Given the description of an element on the screen output the (x, y) to click on. 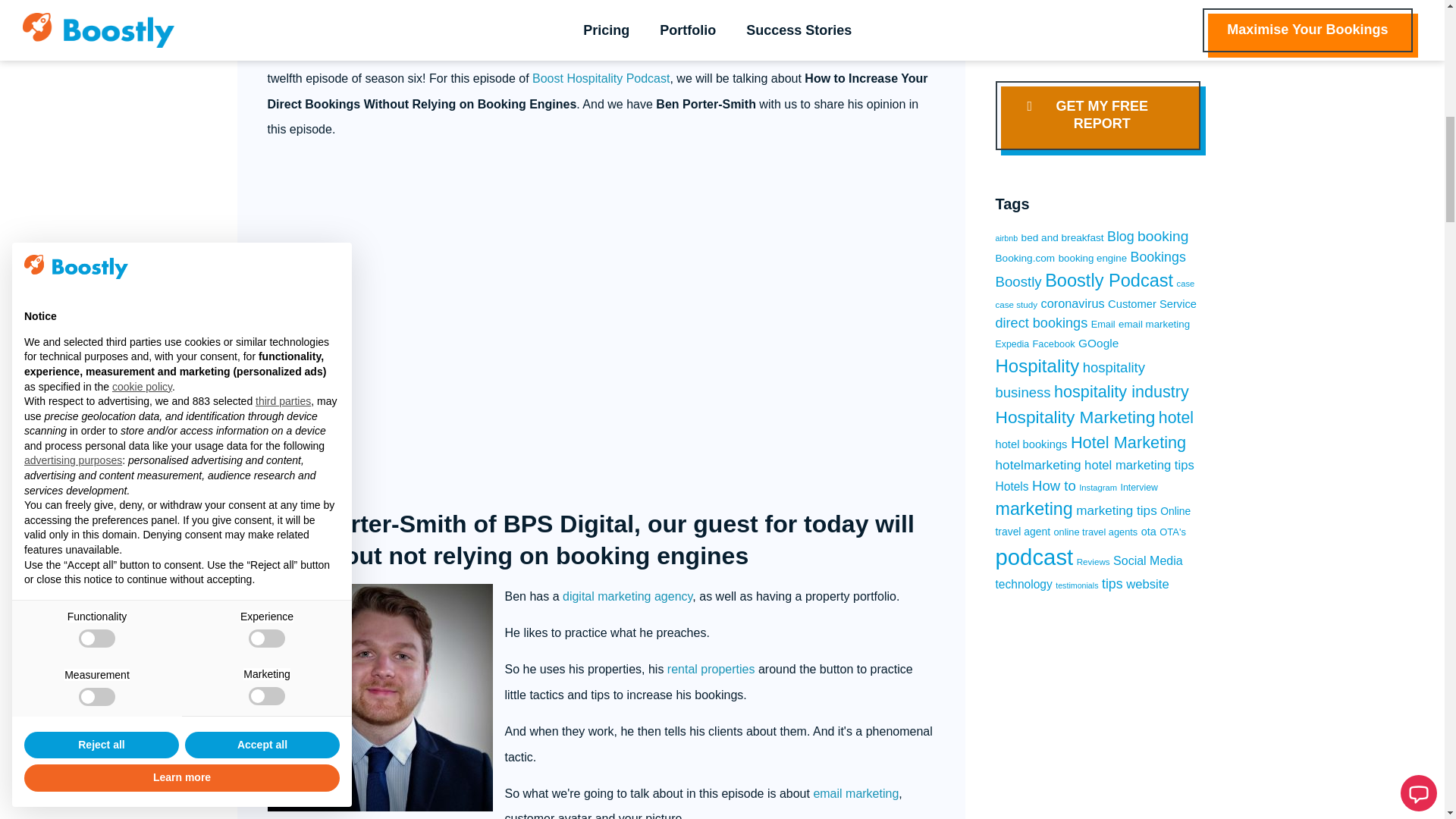
rental properties (710, 668)
podcast (454, 13)
digital marketing agency (627, 595)
October 4, 2019 (326, 14)
email marketing (855, 793)
Boost Hospitality Podcast (600, 78)
